Given the description of an element on the screen output the (x, y) to click on. 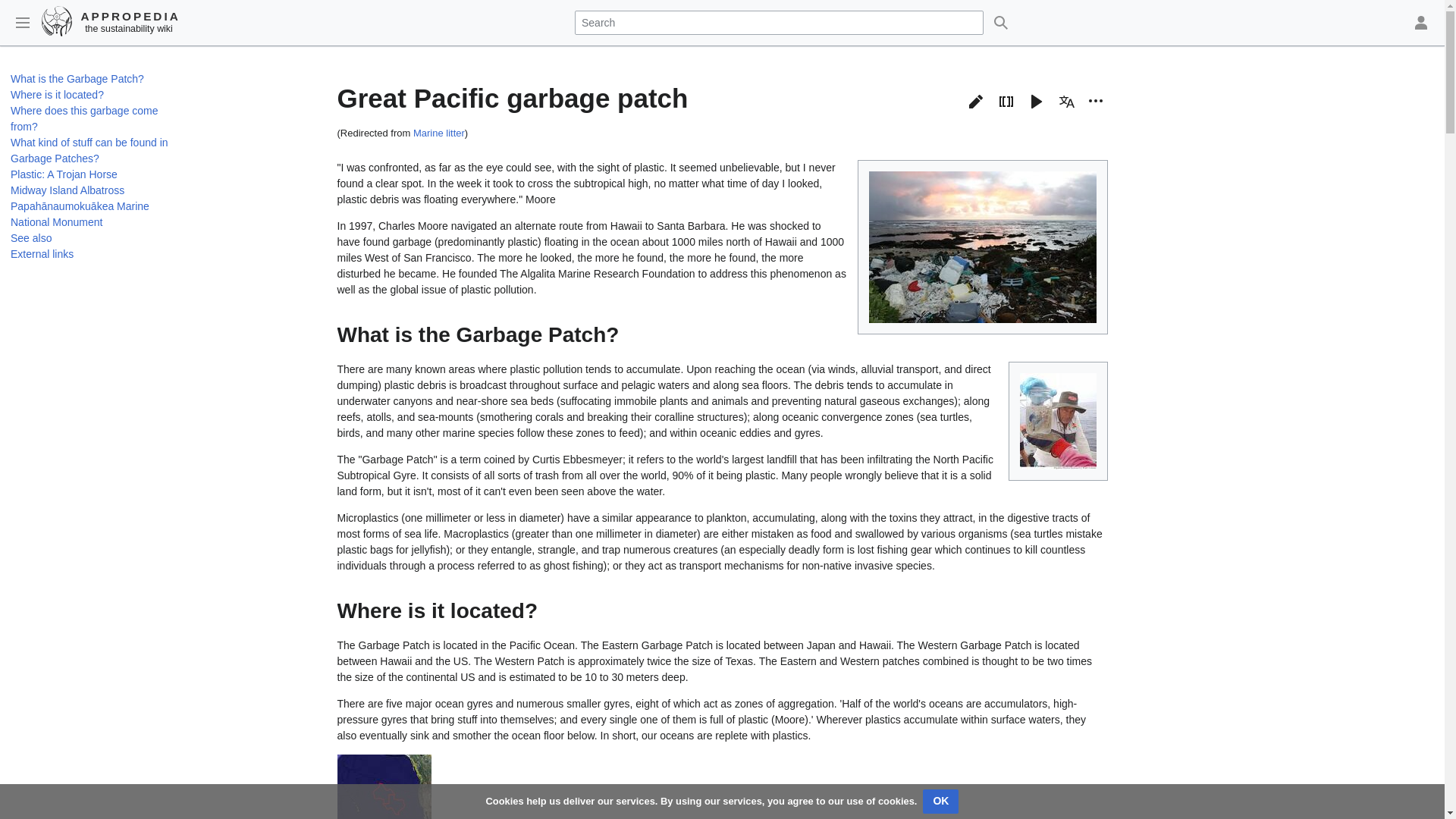
Visit the main page (110, 20)
More (1094, 100)
See also (30, 237)
What is the Garbage Patch? (77, 78)
Edit (975, 101)
Translate (1066, 101)
Midway Island Albatross (66, 190)
Where does this garbage come from? (84, 118)
Marine litter (438, 132)
External links (42, 254)
